Given the description of an element on the screen output the (x, y) to click on. 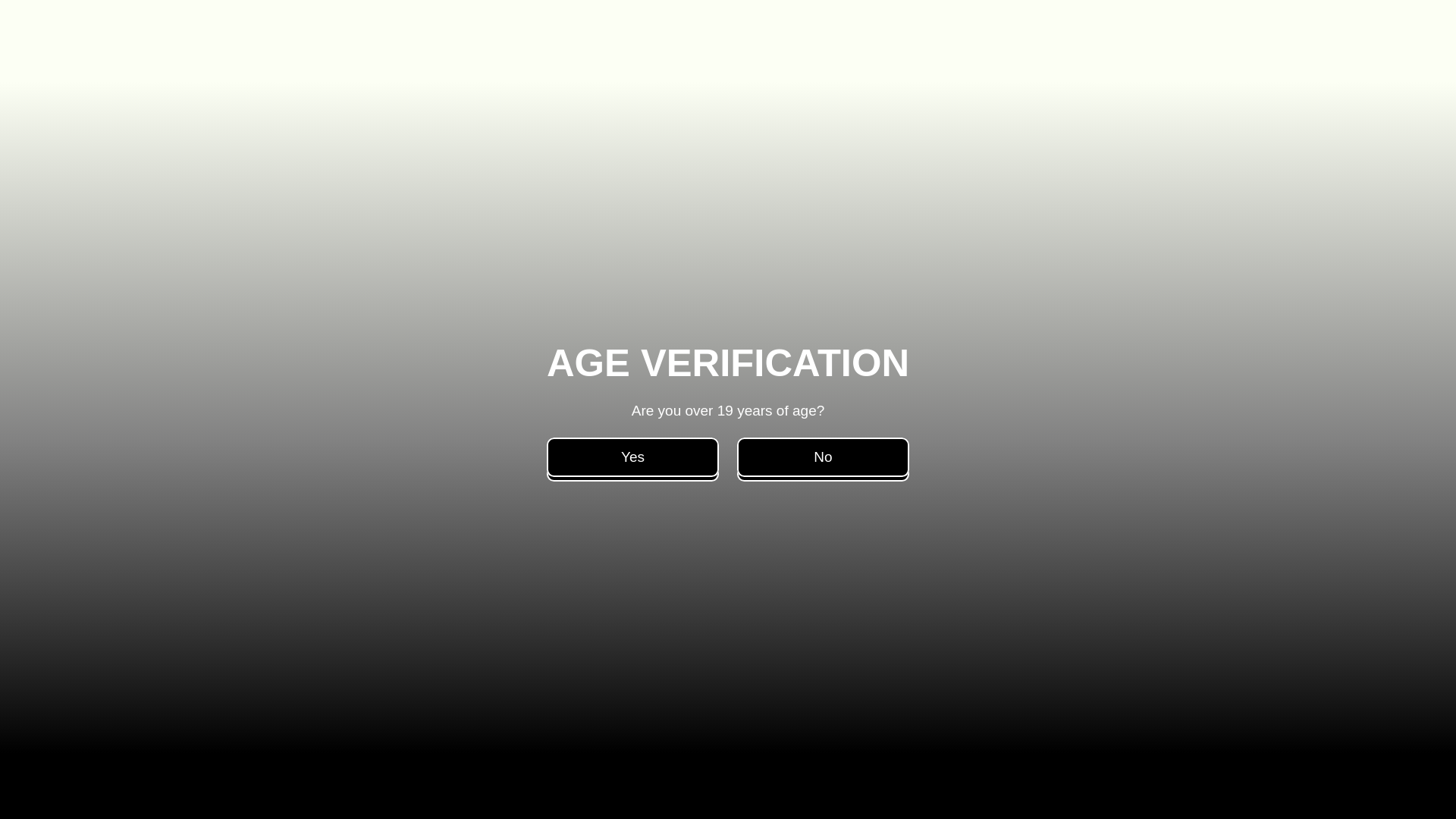
SHOP KELOWNA (931, 439)
Vancouver (692, 55)
Yes (633, 456)
Port Moody (781, 55)
SHOP VICTORIA (925, 388)
Kelowna (929, 55)
Delivery (614, 55)
No (822, 456)
SHOP VANCOUVER (948, 289)
SHOP PORT MOODY (955, 339)
Hot Products (529, 55)
Victoria (860, 55)
